Given the description of an element on the screen output the (x, y) to click on. 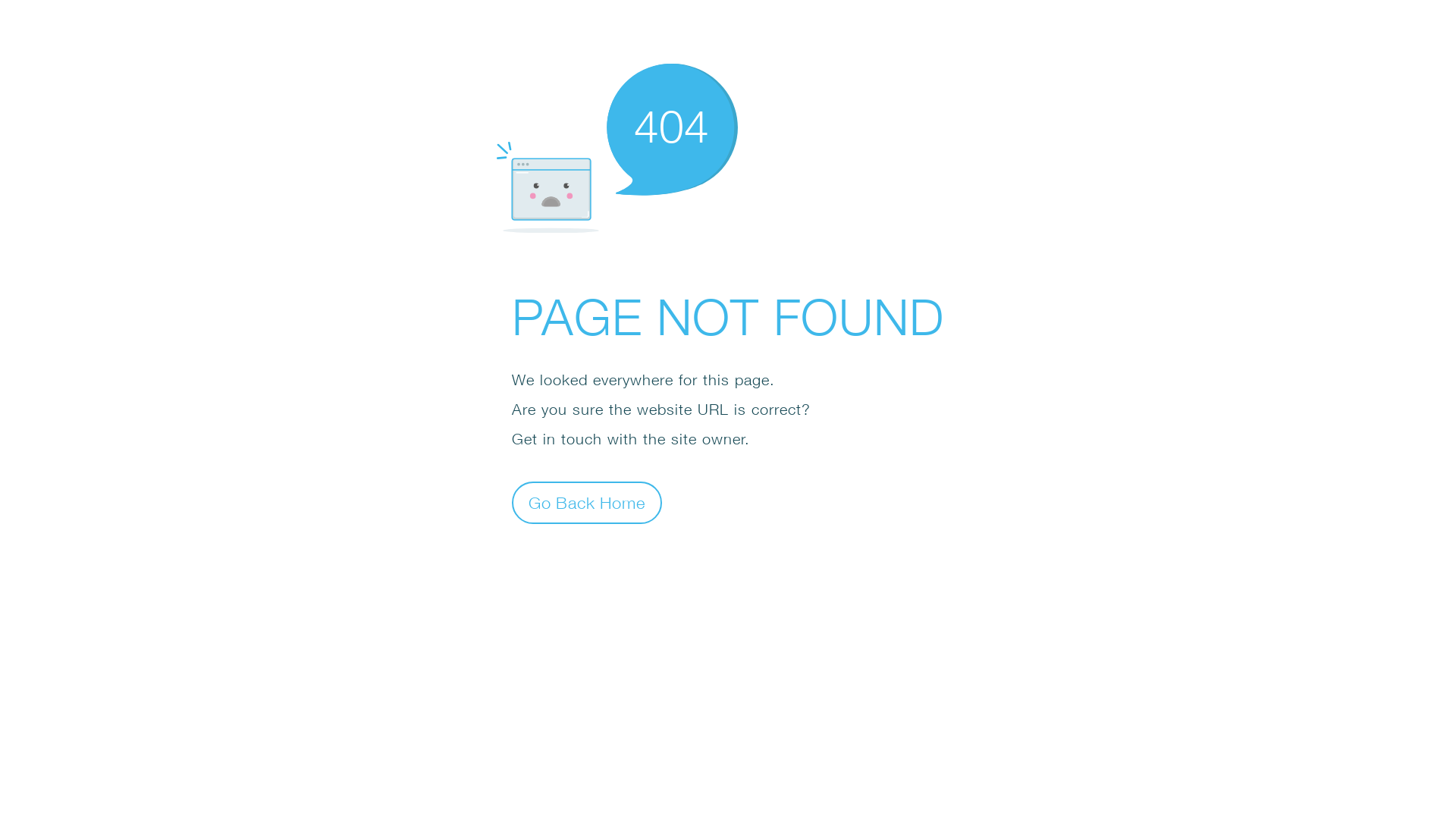
Go Back Home Element type: text (586, 502)
